Given the description of an element on the screen output the (x, y) to click on. 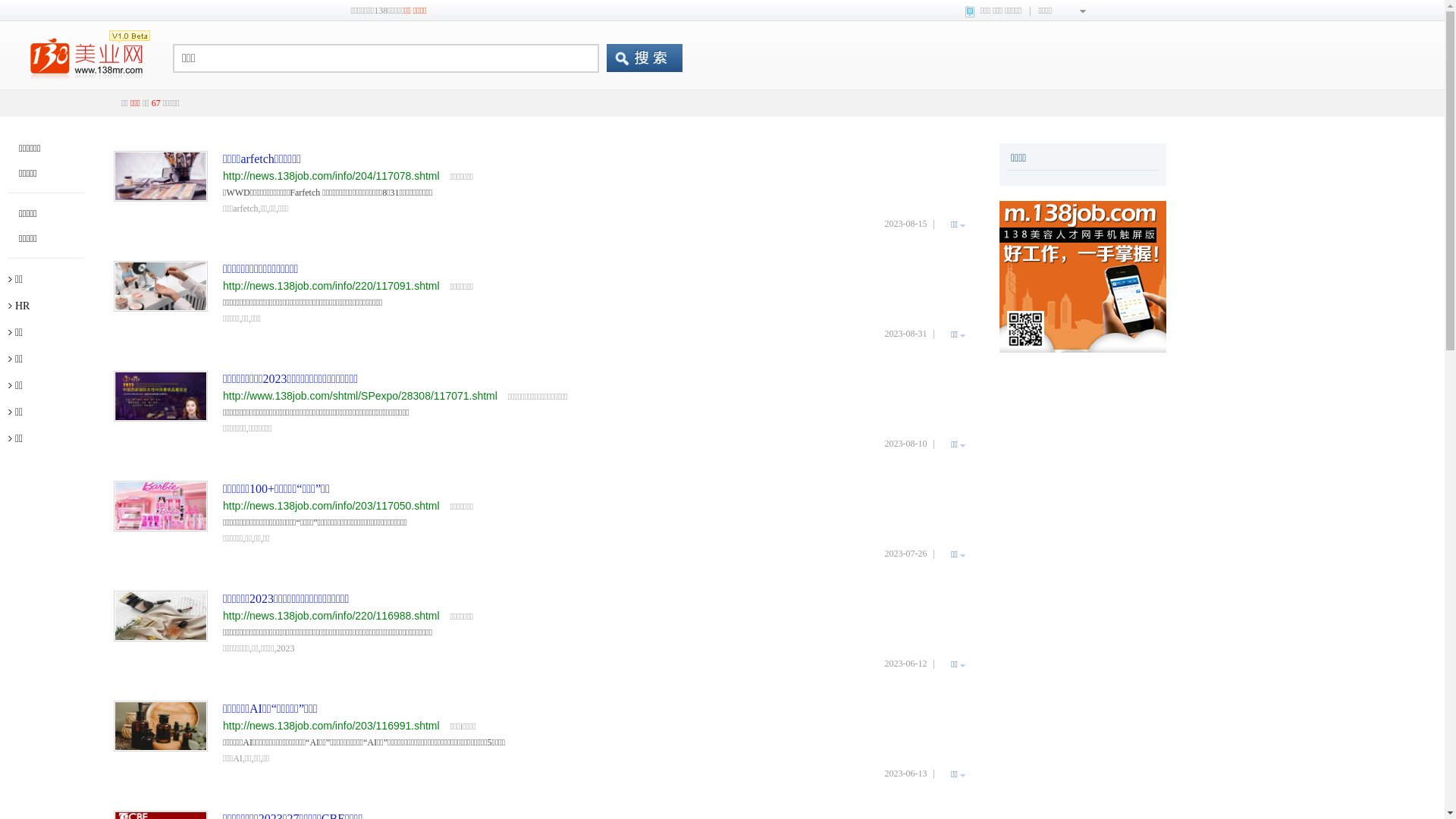
arfetch Element type: text (244, 208)
AI Element type: text (237, 758)
2023 Element type: text (285, 648)
